Given the description of an element on the screen output the (x, y) to click on. 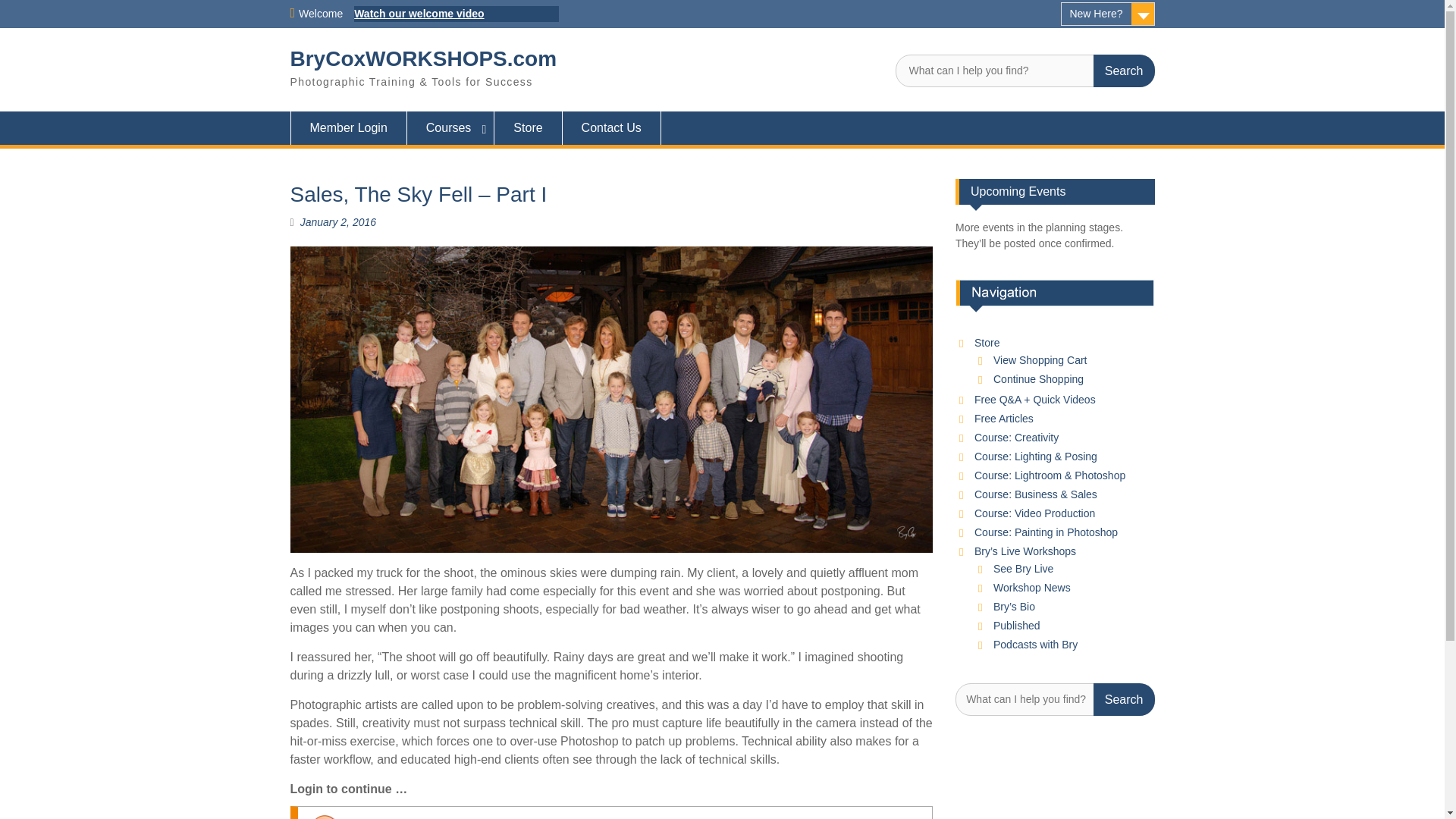
Store (528, 127)
Contact Us (611, 127)
Search (1123, 70)
Search (1123, 70)
BryCoxWORKSHOPS.com (422, 58)
Search (1123, 699)
Courses (451, 127)
Search for: (1024, 70)
New Here? (1107, 13)
Store (986, 342)
